Given the description of an element on the screen output the (x, y) to click on. 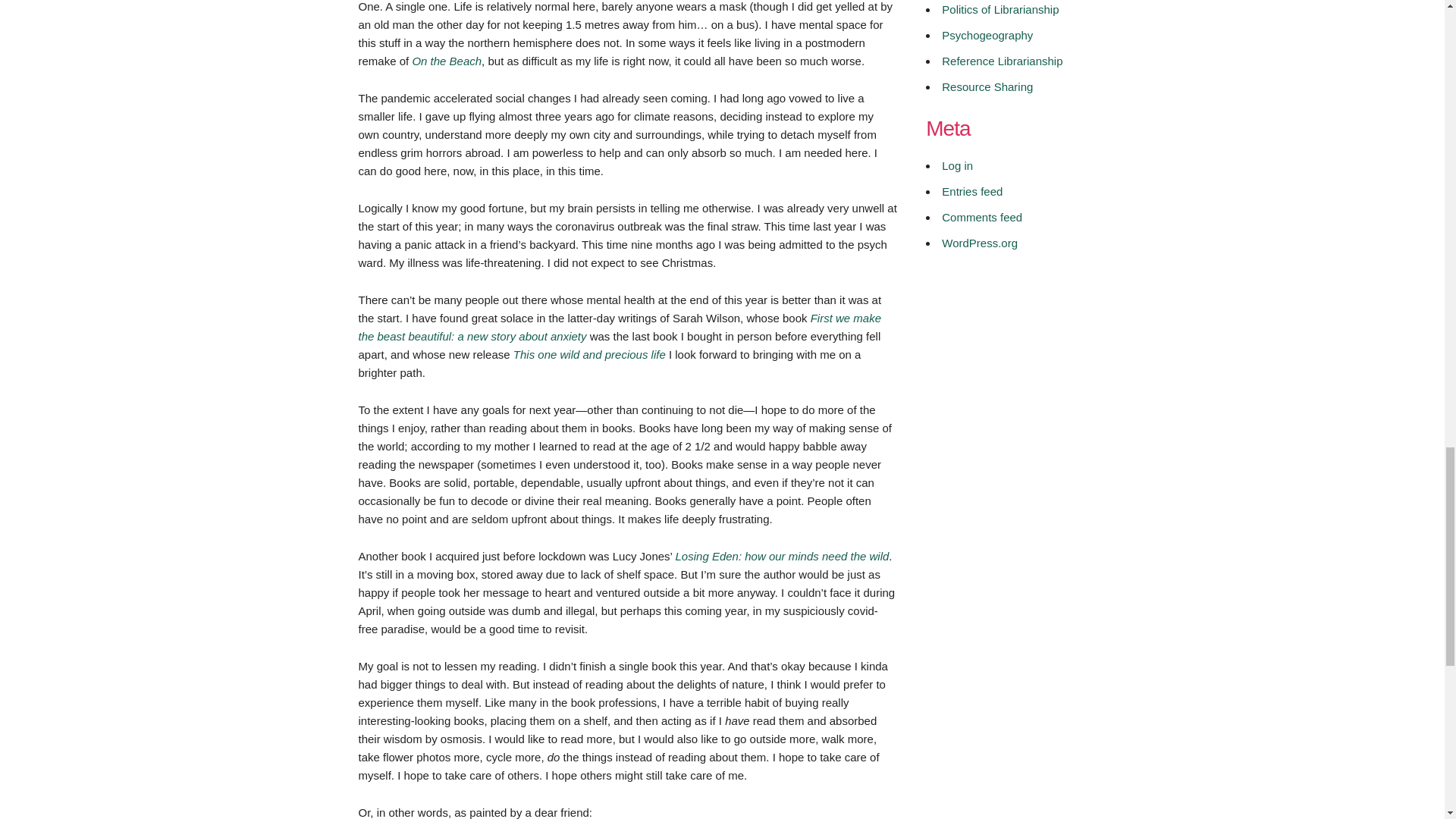
This one wild and precious life (589, 353)
First we make the beast beautiful: a new story about anxiety (619, 326)
On the Beach (446, 60)
Losing Eden: how our minds need the wild (782, 554)
